Given the description of an element on the screen output the (x, y) to click on. 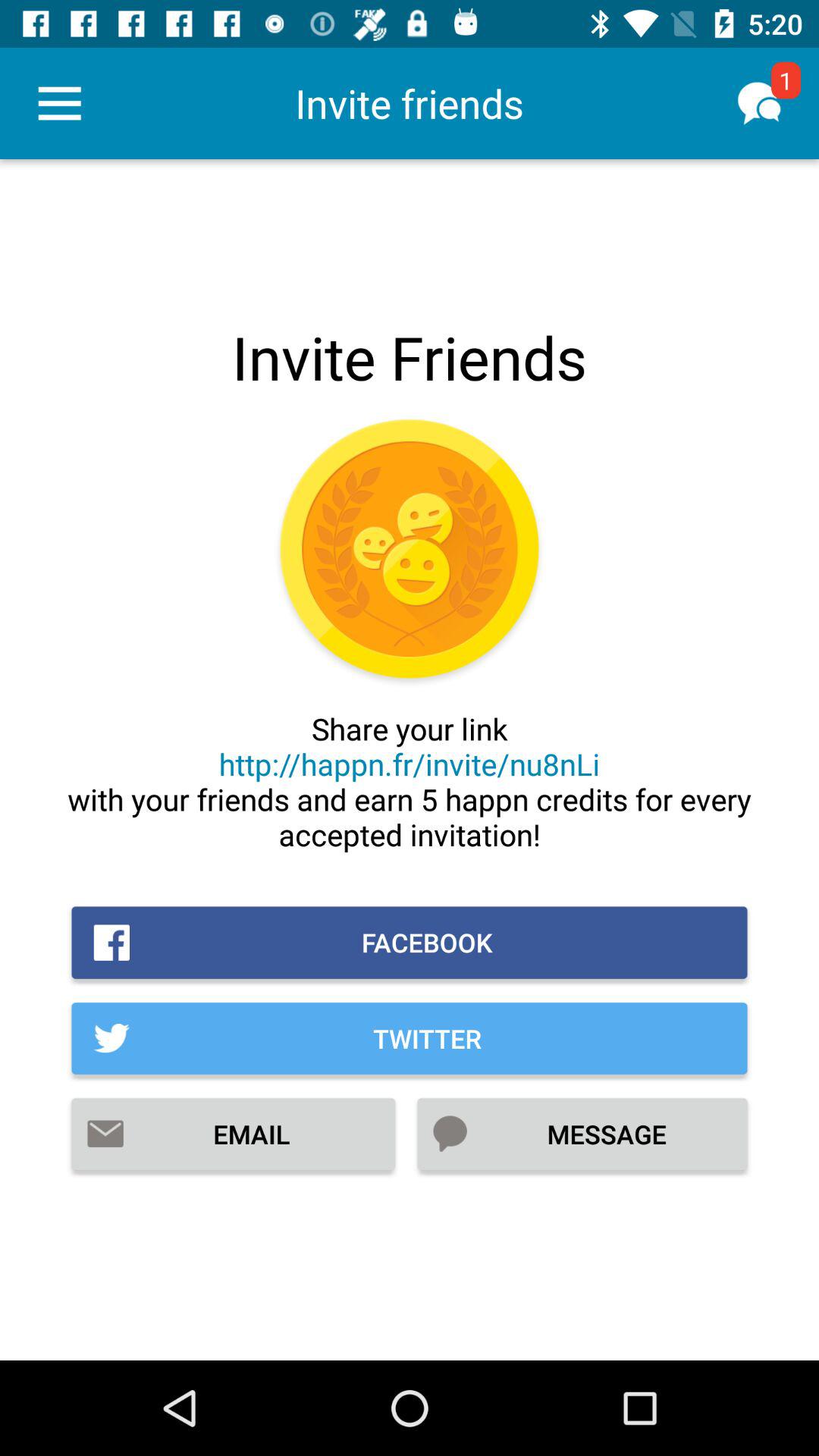
press the item at the bottom right corner (582, 1133)
